Given the description of an element on the screen output the (x, y) to click on. 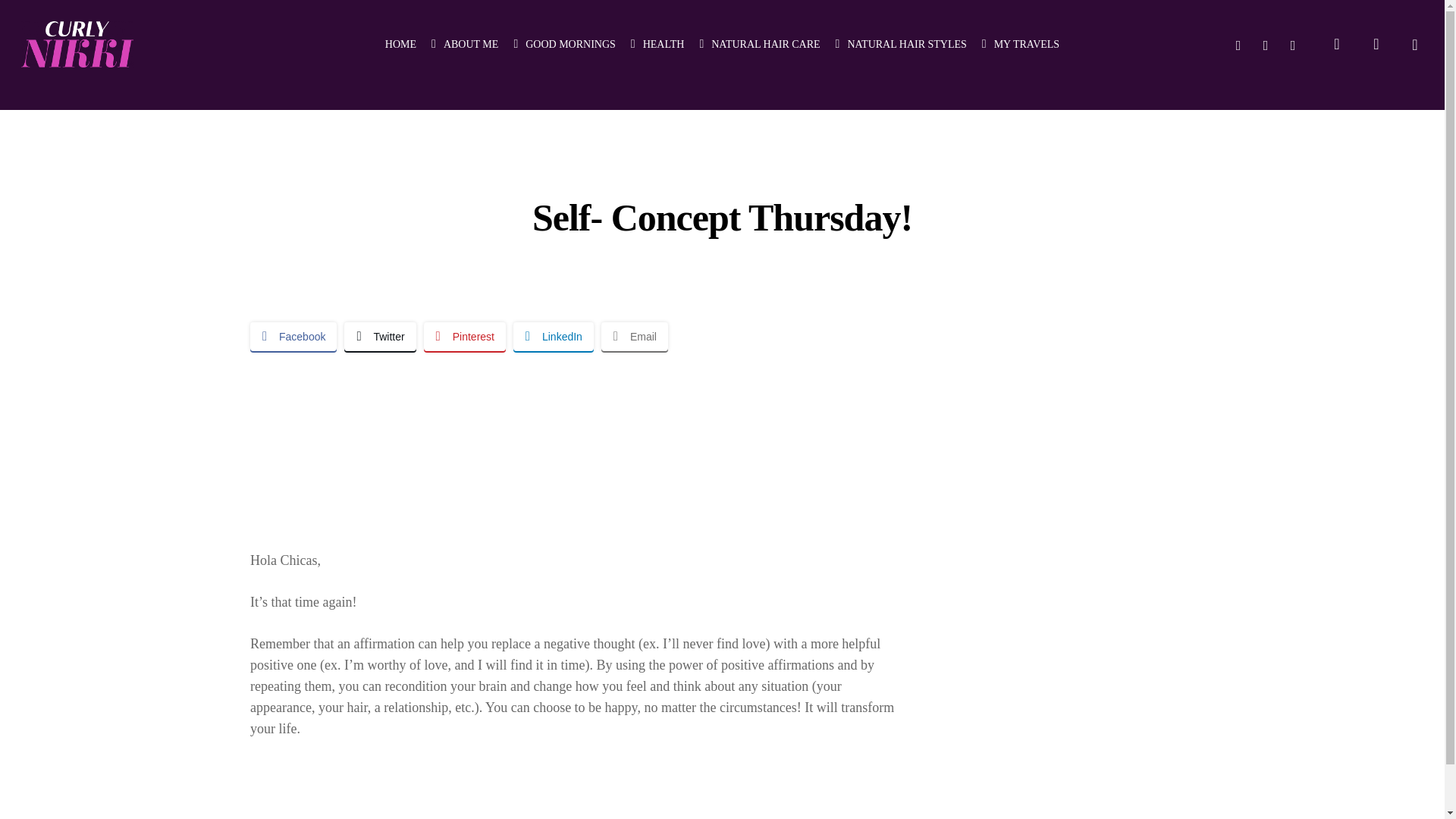
HOME (400, 44)
HEALTH (657, 44)
Self- Concept Thursday! (572, 439)
NATURAL HAIR STYLES (900, 44)
GOOD MORNINGS (563, 44)
ABOUT ME (463, 44)
NATURAL HAIR CARE (758, 44)
